Given the description of an element on the screen output the (x, y) to click on. 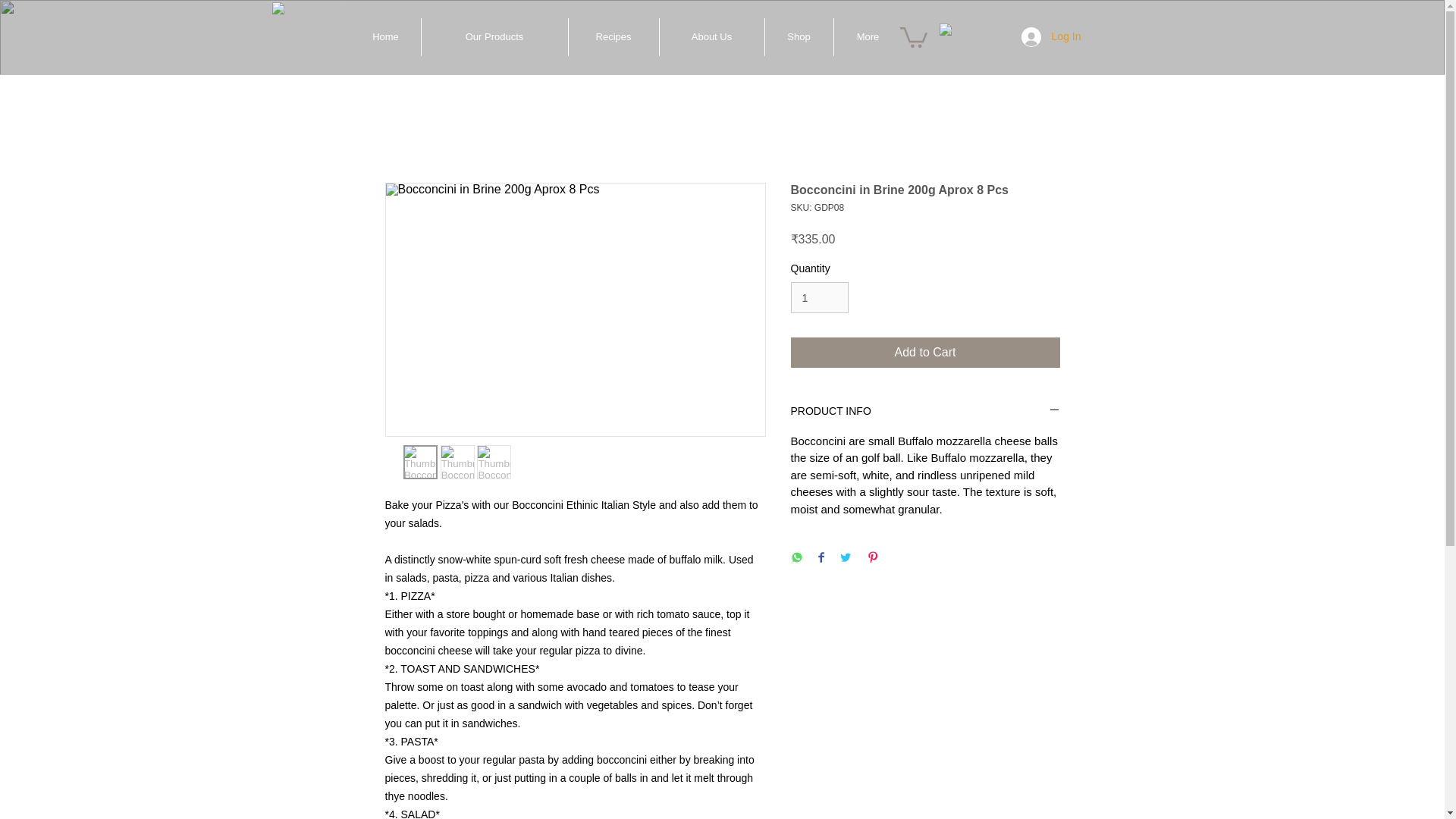
Our Products (494, 37)
1 (818, 296)
Shop (798, 37)
Add to Cart (924, 352)
Recipes (614, 37)
Home (385, 37)
About Us (711, 37)
PRODUCT INFO (924, 412)
Log In (1051, 36)
